Given the description of an element on the screen output the (x, y) to click on. 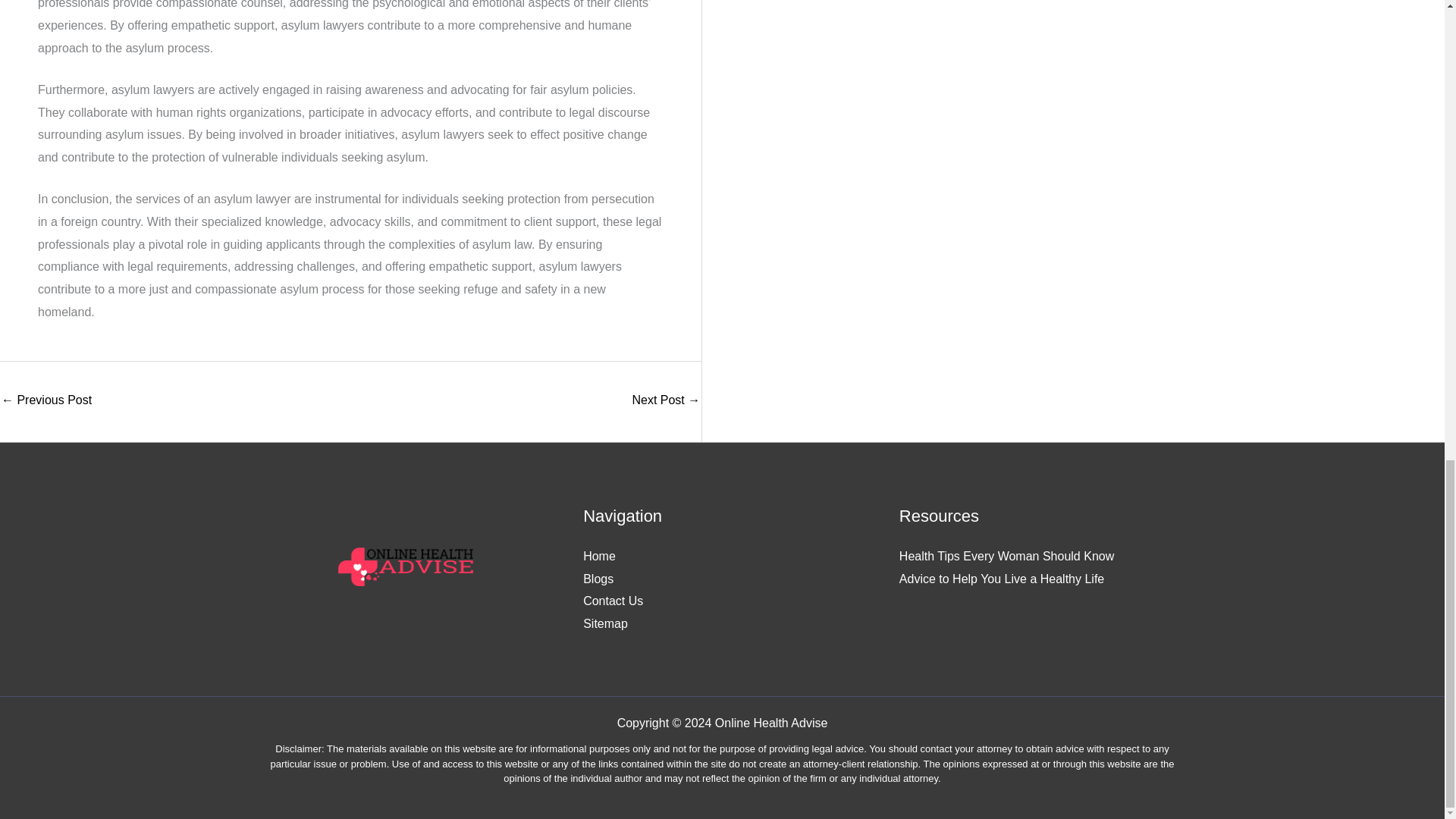
Contact Us (613, 600)
The Role Of Traffic Laws In Pedestrian Accident Claims (665, 401)
Home (599, 555)
Sitemap (605, 623)
Advice to Help You Live a Healthy Life (1001, 578)
Blogs (597, 578)
Pain To Power: PT For Chronic Conditions (46, 401)
Health Tips Every Woman Should Know (1006, 555)
